Given the description of an element on the screen output the (x, y) to click on. 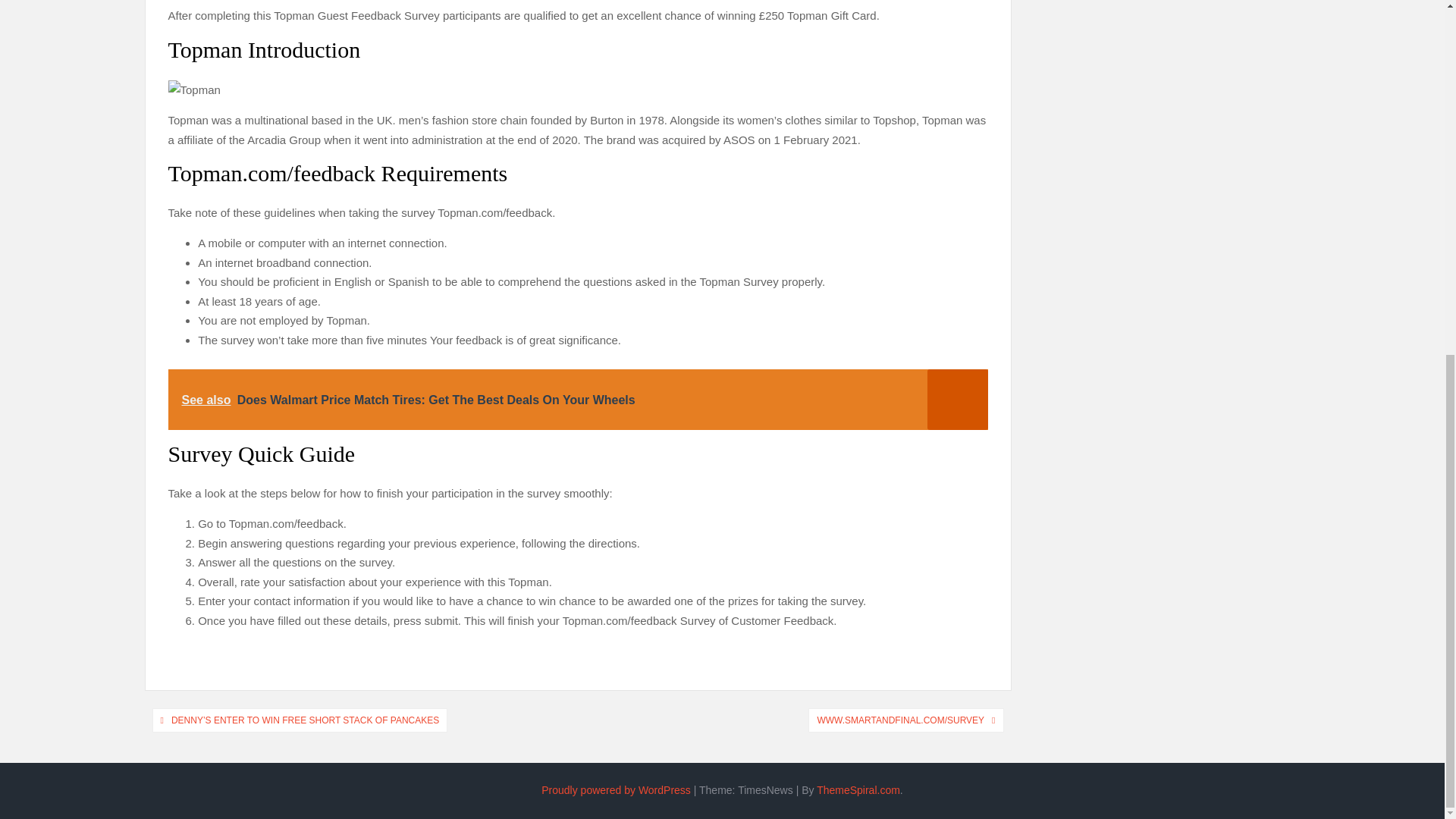
ThemeSpiral.com (857, 789)
Proudly powered by WordPress (615, 789)
